Given the description of an element on the screen output the (x, y) to click on. 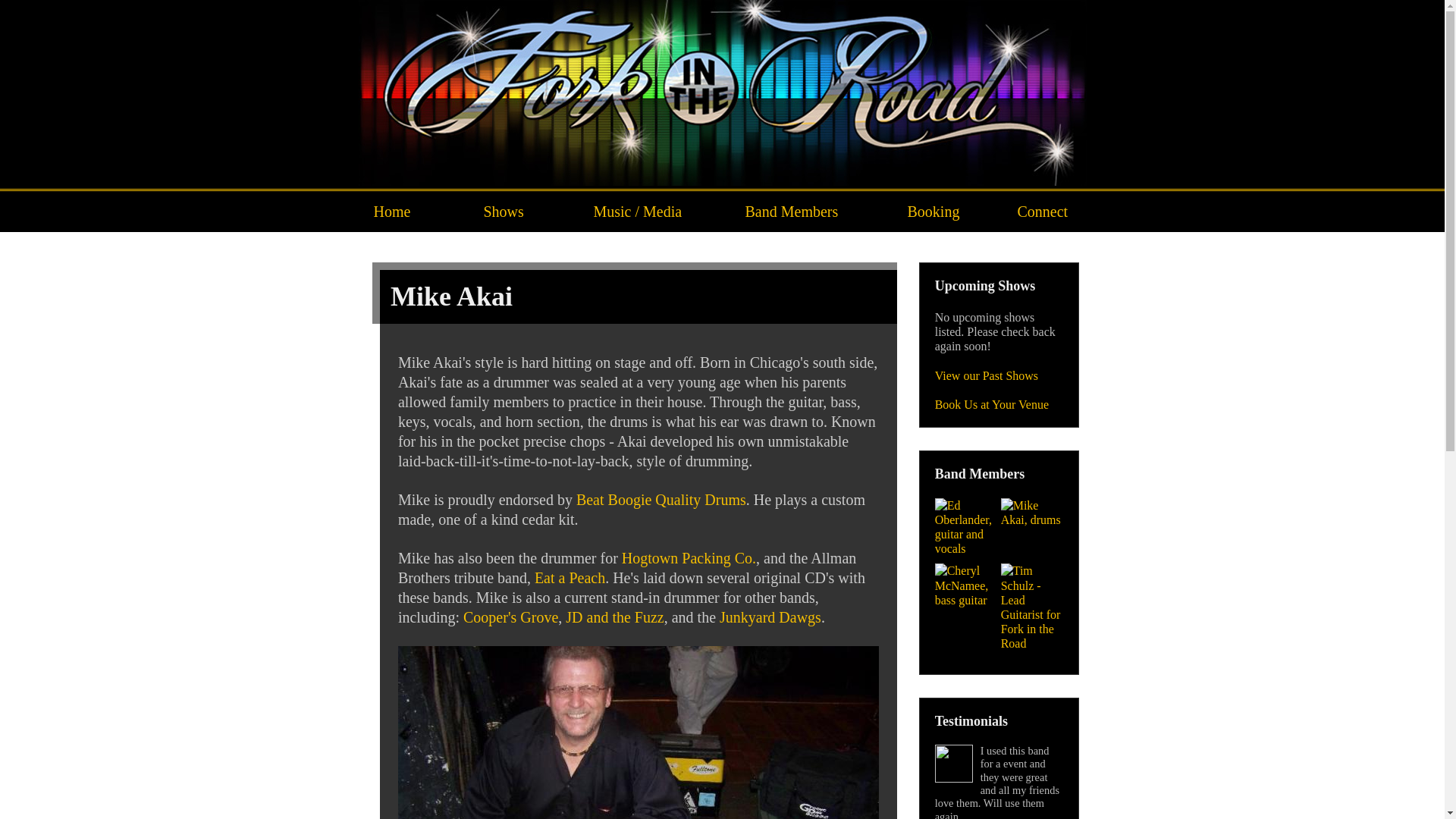
Ed Oberlander, guitar and vocals Element type: hover (966, 527)
Cheryl McNamee, bass guitar Element type: hover (966, 585)
Hogtown Packing Co. Element type: text (688, 557)
View our Past Shows Element type: text (986, 375)
Eat a Peach Element type: text (569, 577)
Junkyard Dawgs Element type: text (770, 616)
Tim Schulz - Lead Guitarist for Fork in the Road Element type: hover (1032, 606)
Beat Boogie Quality Drums Element type: text (661, 499)
JD and the Fuzz Element type: text (614, 616)
Mike Akai, drums Element type: hover (1032, 512)
Band Members Element type: text (810, 211)
Shows Element type: text (523, 211)
Book Us at Your Venue Element type: text (991, 404)
Booking Element type: text (946, 211)
Cooper's Grove Element type: text (510, 616)
Music / Media Element type: text (653, 211)
Skip to main content Element type: text (50, 0)
Home Element type: text (412, 211)
Connect Element type: text (1043, 211)
